Given the description of an element on the screen output the (x, y) to click on. 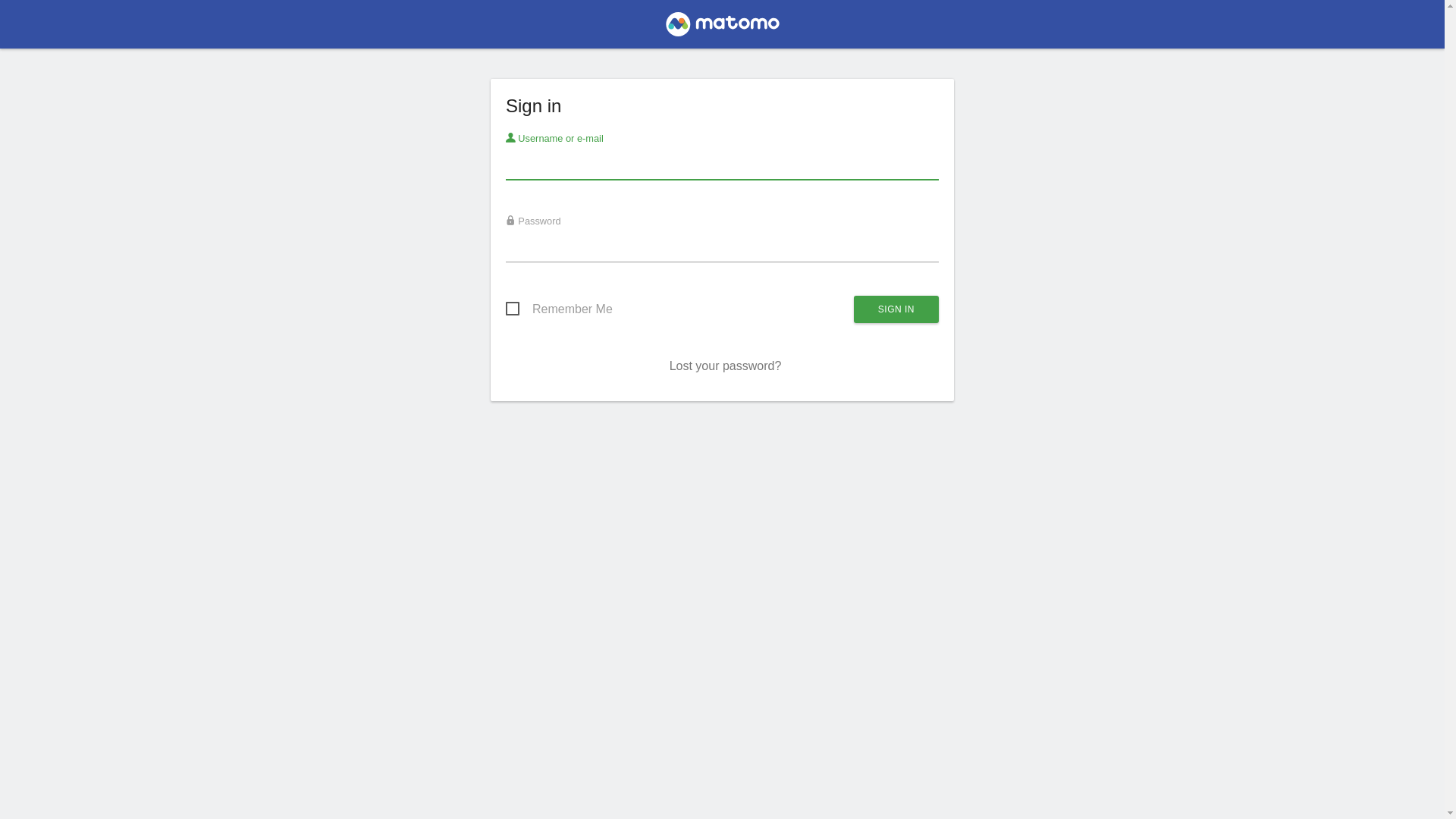
Lost your password? Element type: text (725, 365)
Matomo # free/libre analytics platform Element type: hover (722, 27)
Sign in Element type: text (895, 309)
